Given the description of an element on the screen output the (x, y) to click on. 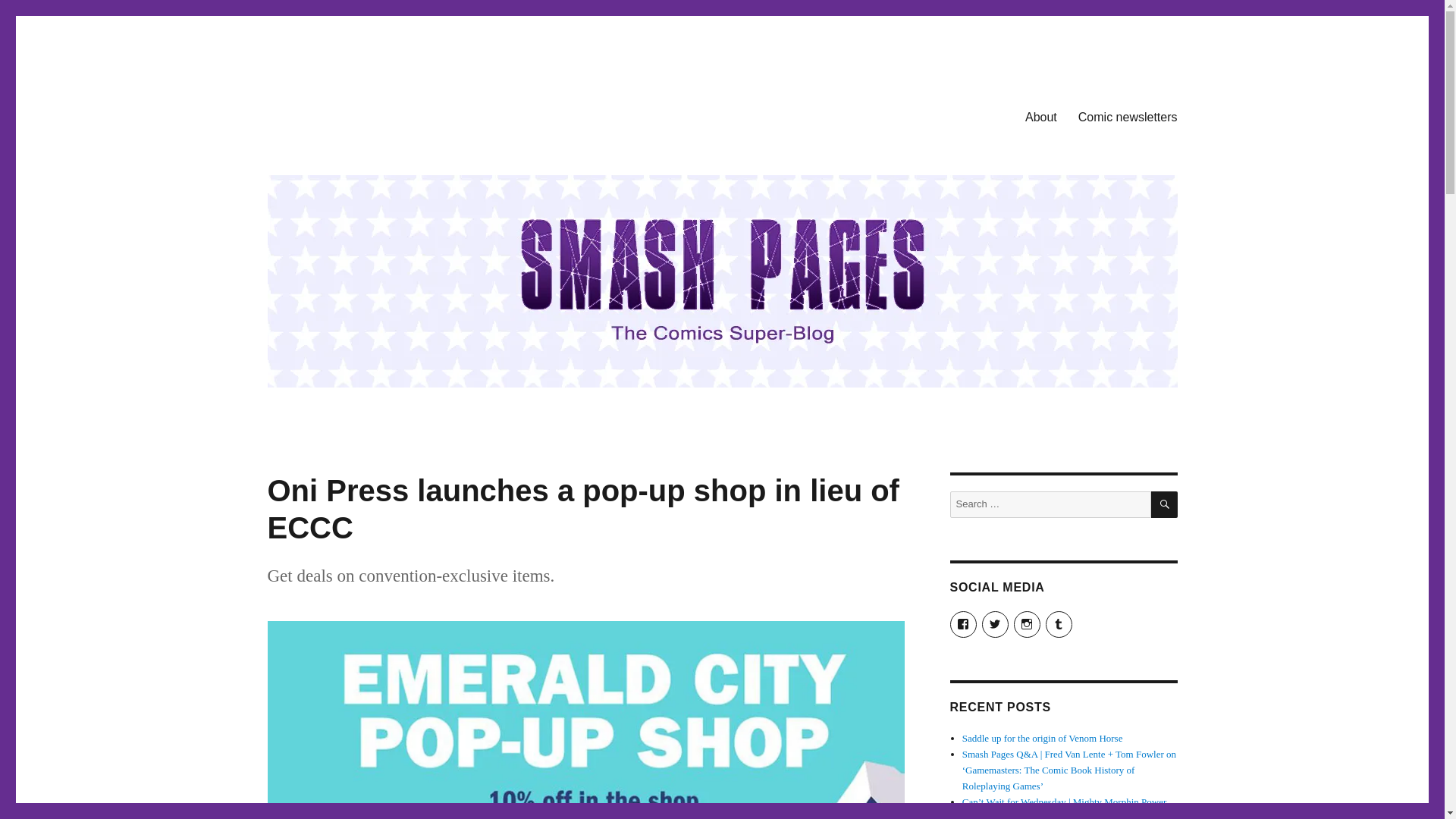
Comic newsletters (1127, 116)
SEARCH (1164, 504)
Saddle up for the origin of Venom Horse (1042, 737)
SMASH PAGES (344, 114)
About (1040, 116)
